Given the description of an element on the screen output the (x, y) to click on. 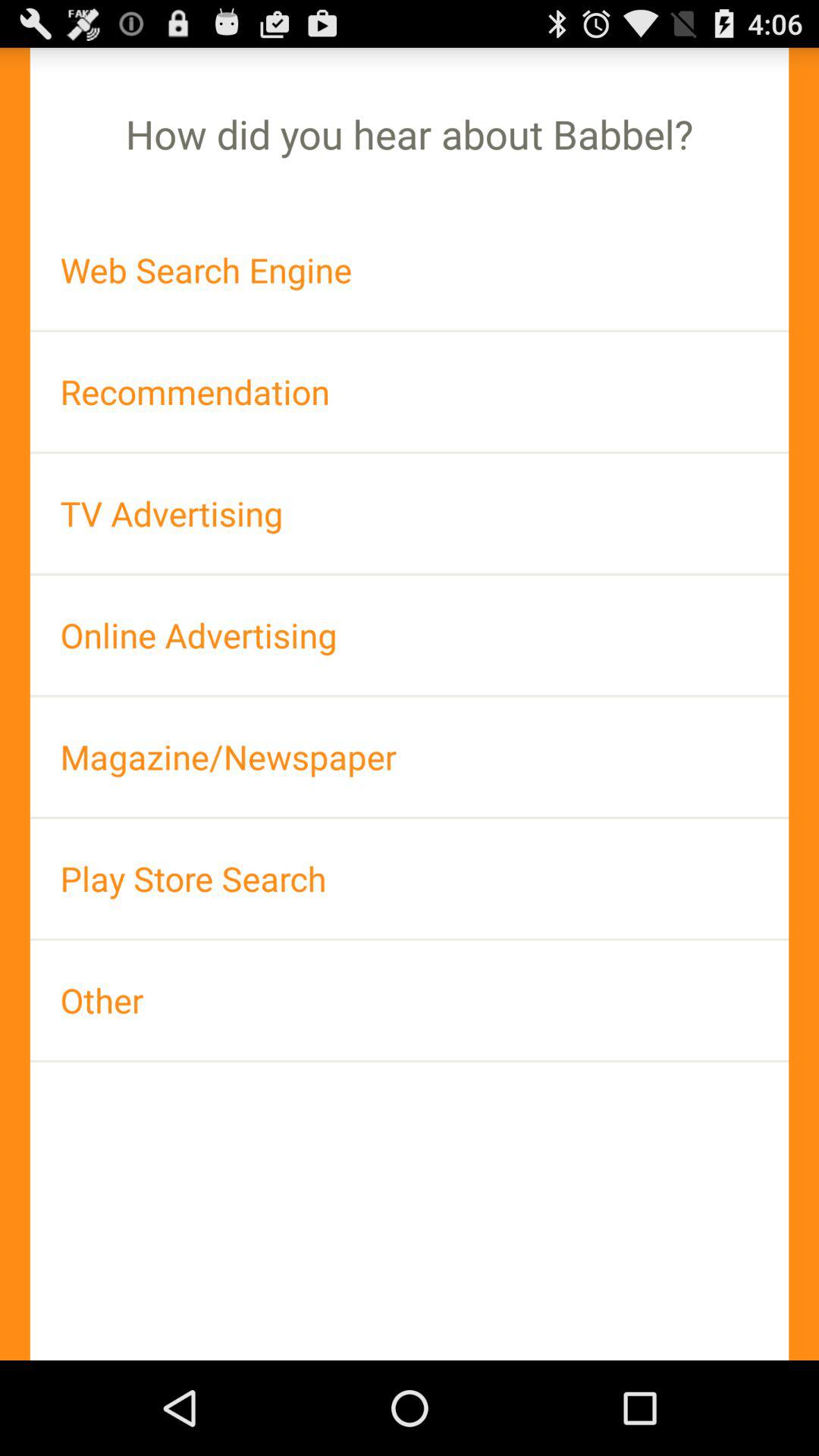
swipe to other app (409, 1000)
